Given the description of an element on the screen output the (x, y) to click on. 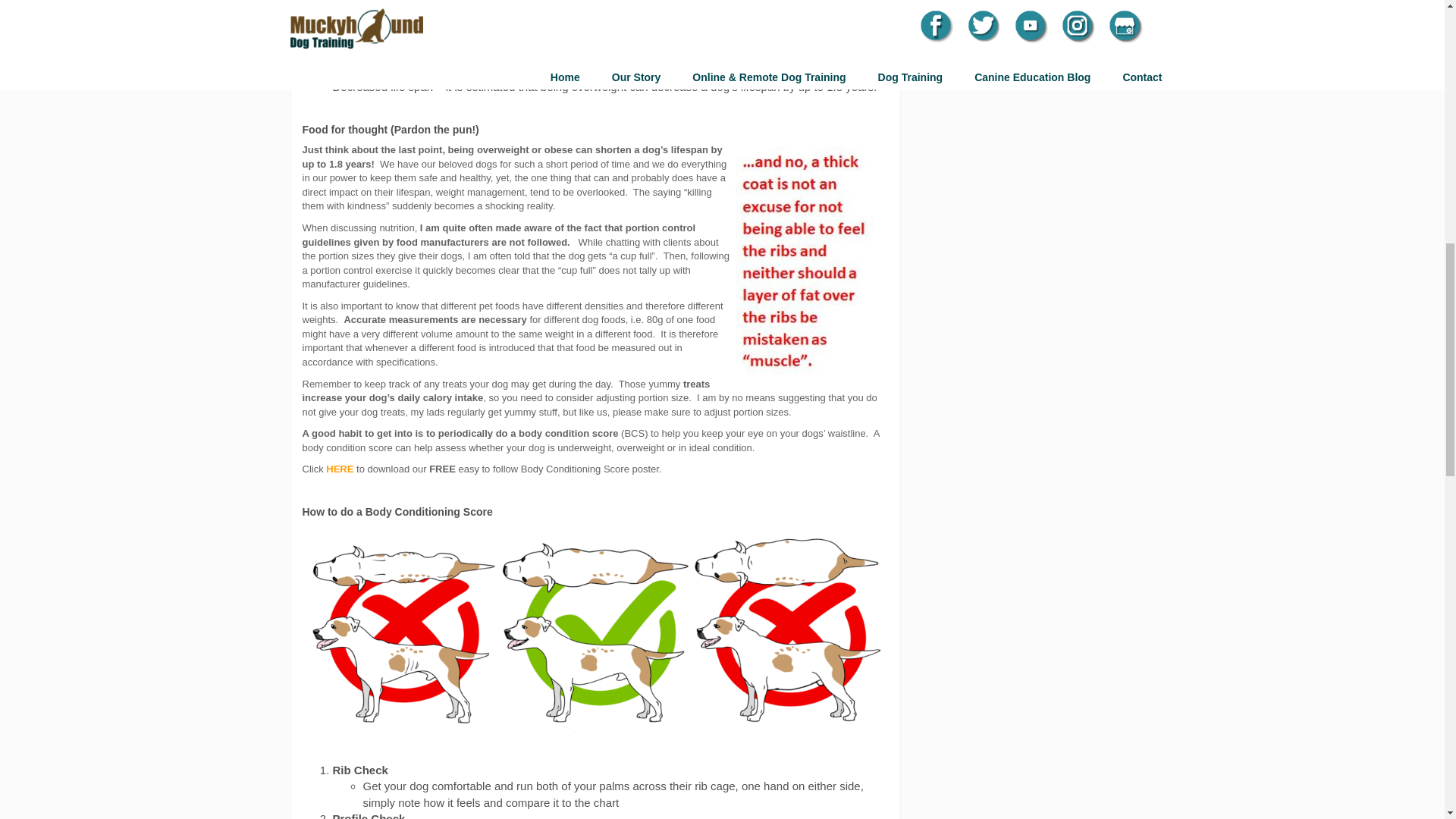
HERE (339, 469)
